Given the description of an element on the screen output the (x, y) to click on. 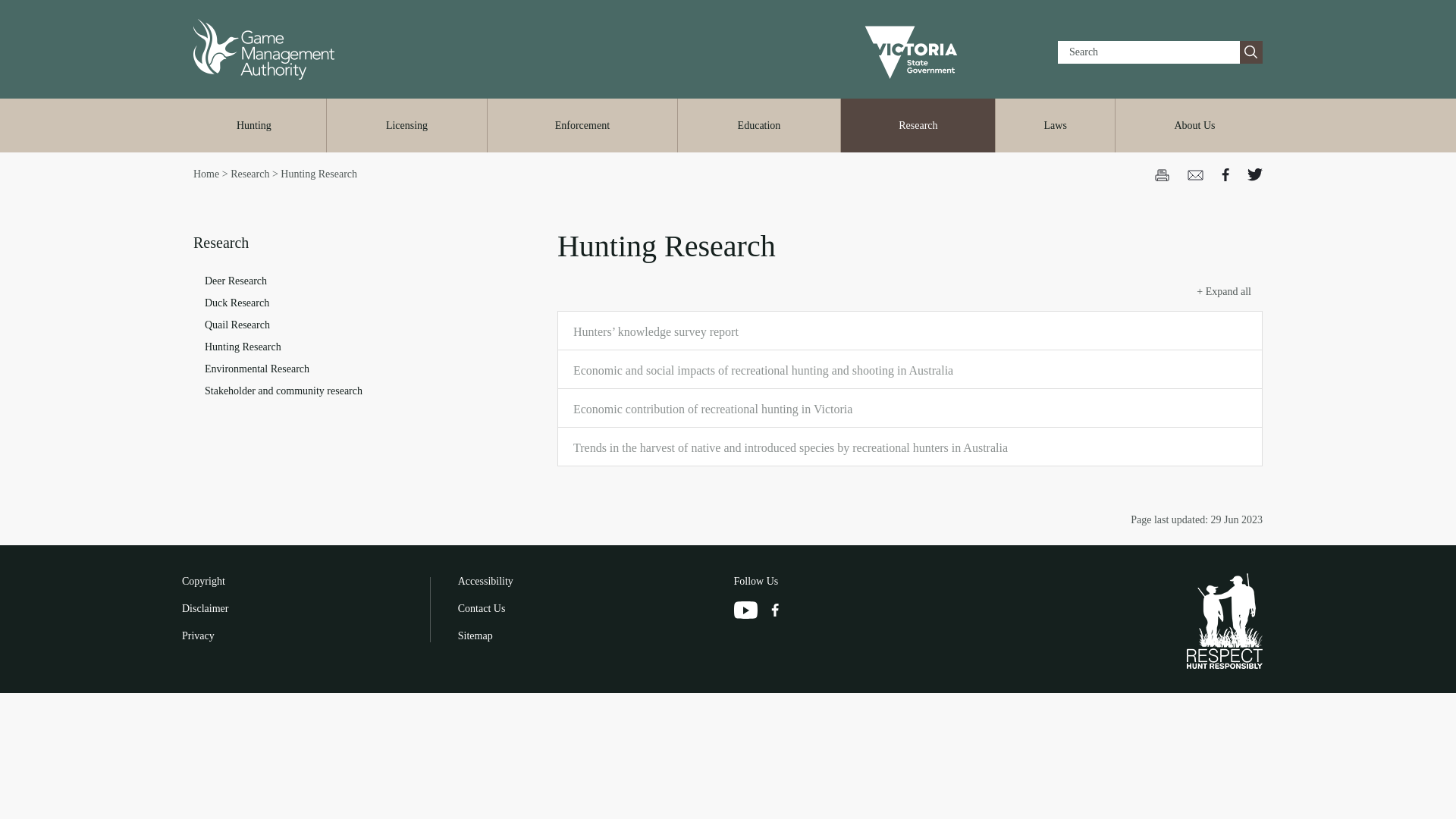
Enforcement (582, 125)
Research (917, 125)
Hunting (253, 125)
Education (758, 125)
About Us (1194, 125)
Laws (1055, 125)
Licensing (406, 125)
